Given the description of an element on the screen output the (x, y) to click on. 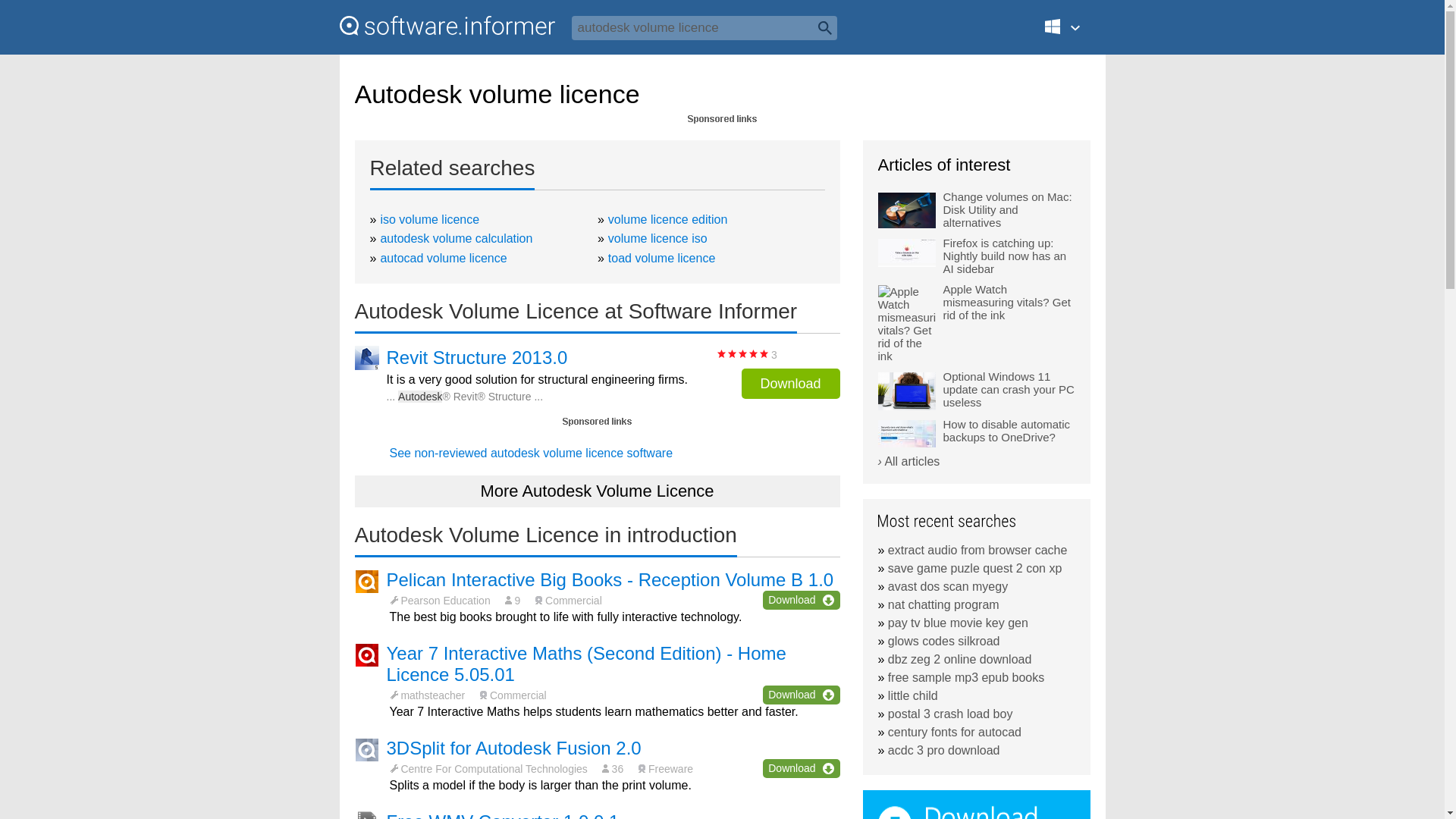
Revit Structure 2013.0 (477, 357)
Pelican Interactive Big Books - Reception Volume B 1.0 (610, 579)
iso volume licence (429, 219)
volume licence edition (667, 219)
Download (801, 694)
autodesk volume calculation (456, 237)
volume licence iso (657, 237)
Windows (1070, 33)
Revit Structure 2013.0 (477, 357)
3DSplit for Autodesk Fusion 2.0 (514, 747)
Download (801, 599)
autocad volume licence (443, 257)
See non-reviewed autodesk volume licence software (531, 452)
Pelican Interactive Big Books - Reception Volume B 1.0 (610, 579)
